Given the description of an element on the screen output the (x, y) to click on. 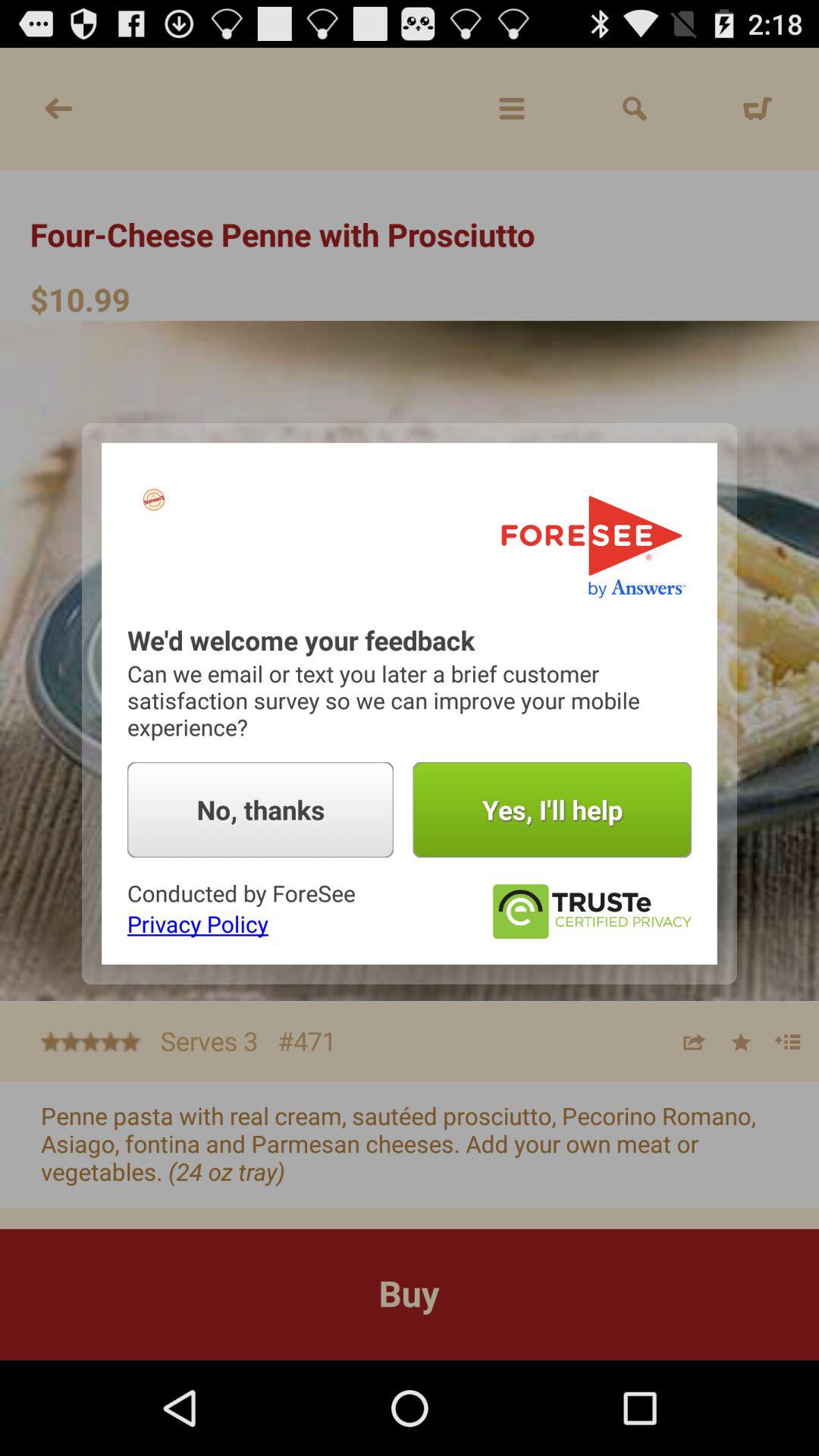
open app below the can we email item (551, 809)
